Given the description of an element on the screen output the (x, y) to click on. 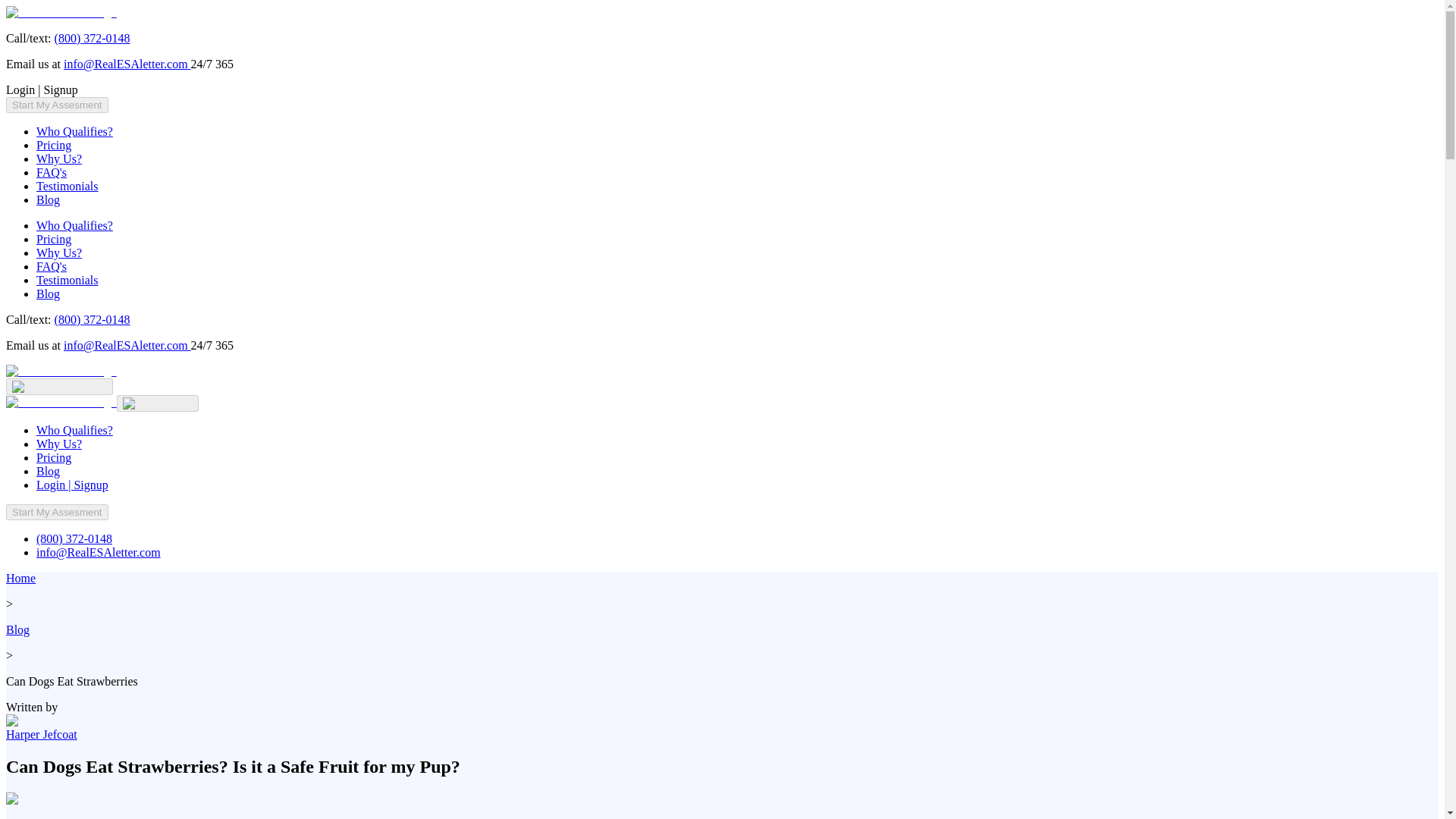
Pricing (53, 238)
Start My Assesment (56, 512)
Testimonials (67, 279)
Blog (47, 199)
Start My Assesment (56, 105)
Who Qualifies? (74, 131)
Blog (47, 293)
FAQ's (51, 172)
Why Us? (58, 158)
Pricing (53, 144)
FAQ's (51, 266)
Who Qualifies? (74, 225)
Harper Jefcoat (41, 734)
Blog (47, 471)
Testimonials (67, 185)
